Given the description of an element on the screen output the (x, y) to click on. 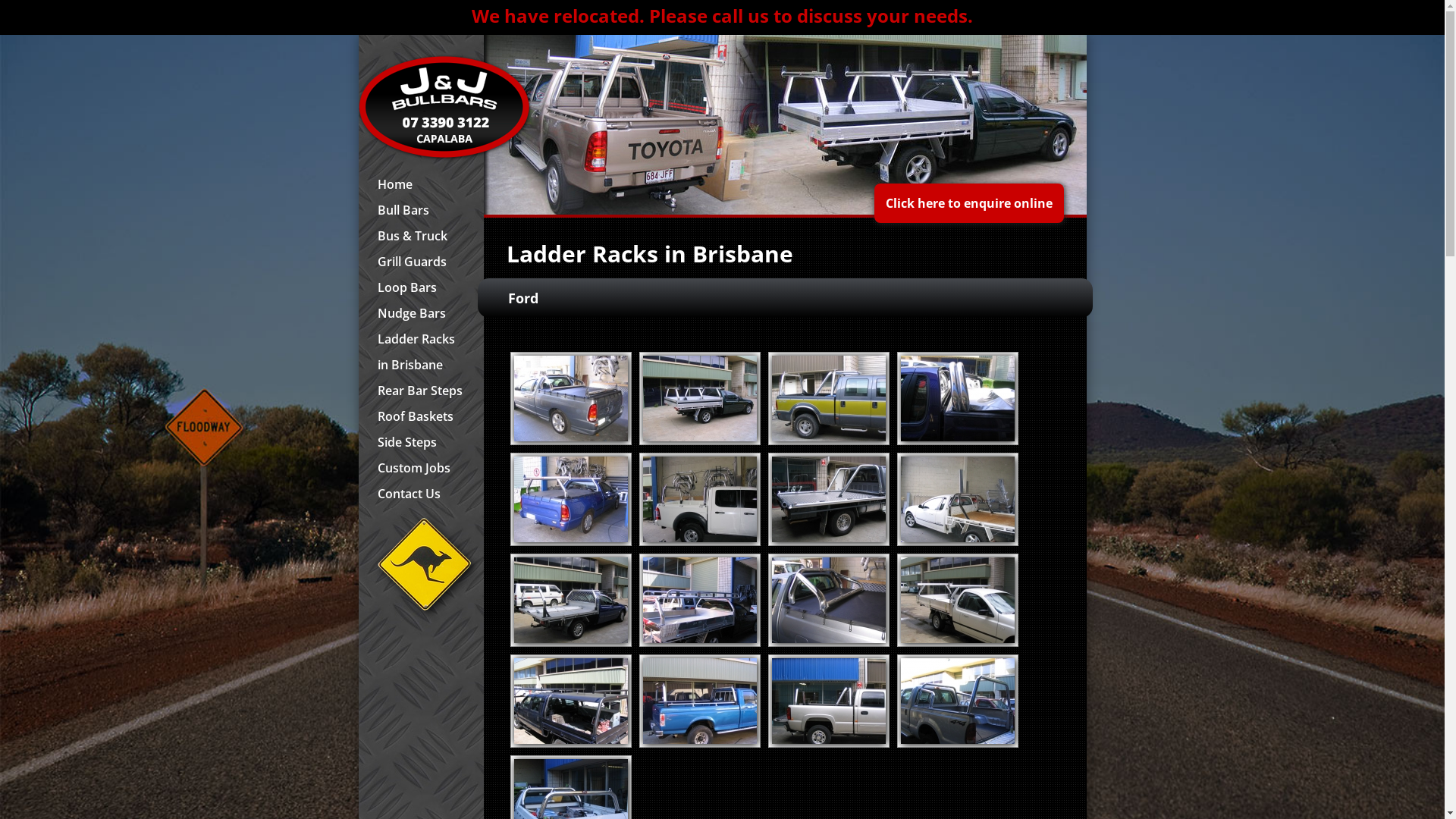
Contact Us Element type: text (420, 493)
img_0456 Element type: hover (957, 398)
aa-sports-bar Element type: hover (957, 499)
Home Element type: text (420, 184)
Nudge Bars Element type: text (420, 313)
img_1124 Element type: hover (570, 499)
ba-sports-bar Element type: hover (828, 600)
img_1674 Element type: hover (699, 499)
img_0429 Element type: hover (828, 398)
custom-racks-for-f250 Element type: hover (570, 700)
Grill Guards Element type: text (420, 261)
Bus & Truck Element type: text (420, 235)
f350-sports-bar-with-rear-rack Element type: hover (828, 700)
f100-custom-racks Element type: hover (699, 700)
Ladder Racks in Brisbane Element type: text (420, 351)
ba-roof-rack-with-3-racks Element type: hover (699, 600)
Loop Bars Element type: text (420, 287)
Side Steps Element type: text (420, 442)
3-custom-racks Element type: hover (828, 499)
Click here to enquire online Element type: text (968, 202)
Custom Jobs Element type: text (420, 467)
Roof Baskets Element type: text (420, 416)
ba-type-2-racks-3-tube Element type: hover (957, 600)
We have relocated. Please call us to discuss your needs. Element type: text (721, 15)
Bull Bars Element type: text (420, 209)
basportsrack Element type: hover (570, 398)
f350-sports-bars Element type: hover (957, 700)
au-3-racks-for-tray Element type: hover (570, 600)
img_0367 Element type: hover (699, 398)
Rear Bar Steps Element type: text (420, 390)
